Given the description of an element on the screen output the (x, y) to click on. 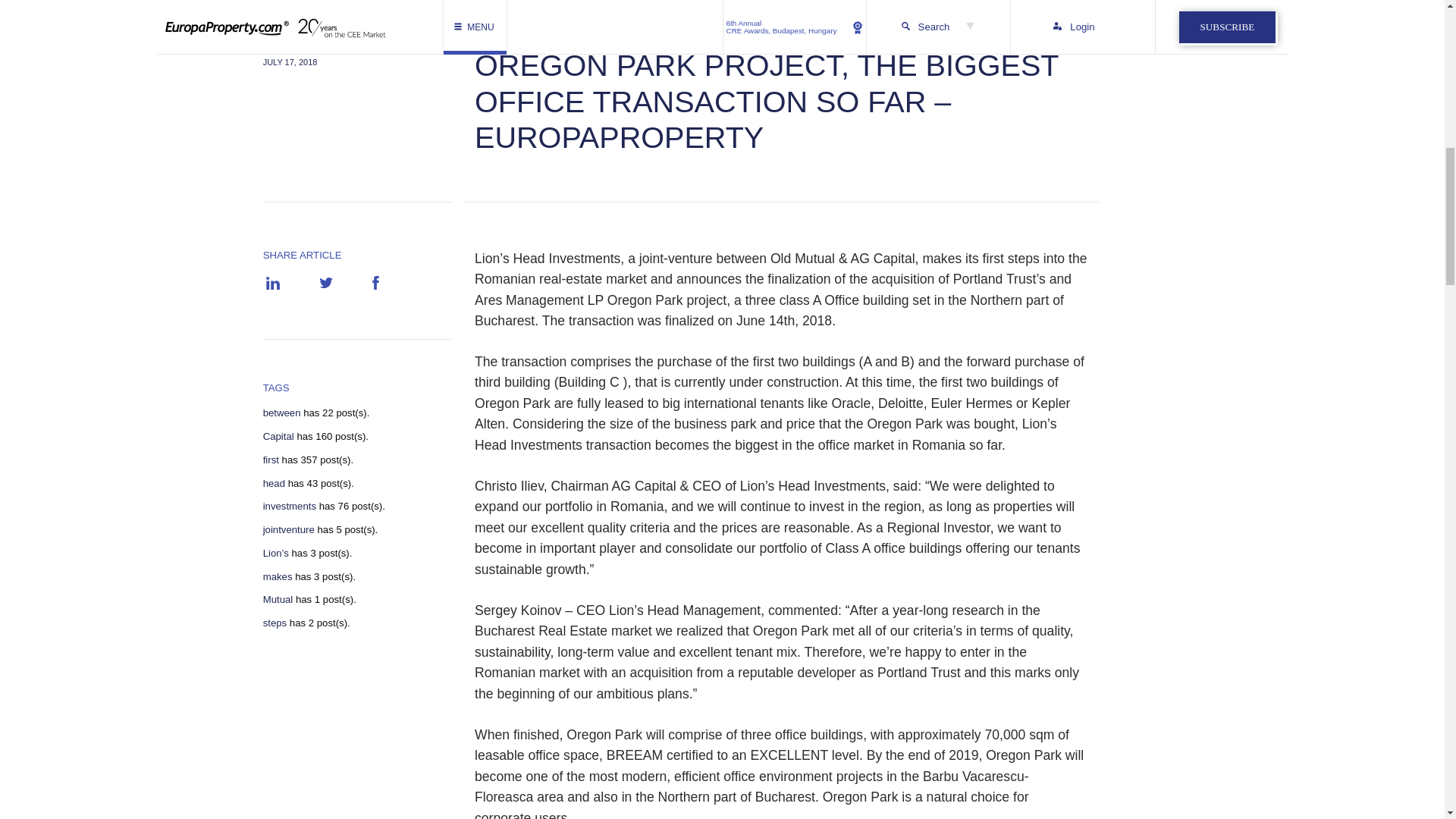
makes (277, 576)
View all posts in steps (274, 623)
jointventure (288, 530)
View all posts in Capital (278, 436)
View all posts in first (271, 460)
steps (274, 623)
View all posts in jointventure (288, 530)
between (282, 413)
View all posts in between (282, 413)
View all posts in Mutual (278, 599)
Capital (278, 436)
head (274, 483)
first (271, 460)
View all posts in makes (277, 576)
Mutual (278, 599)
